Given the description of an element on the screen output the (x, y) to click on. 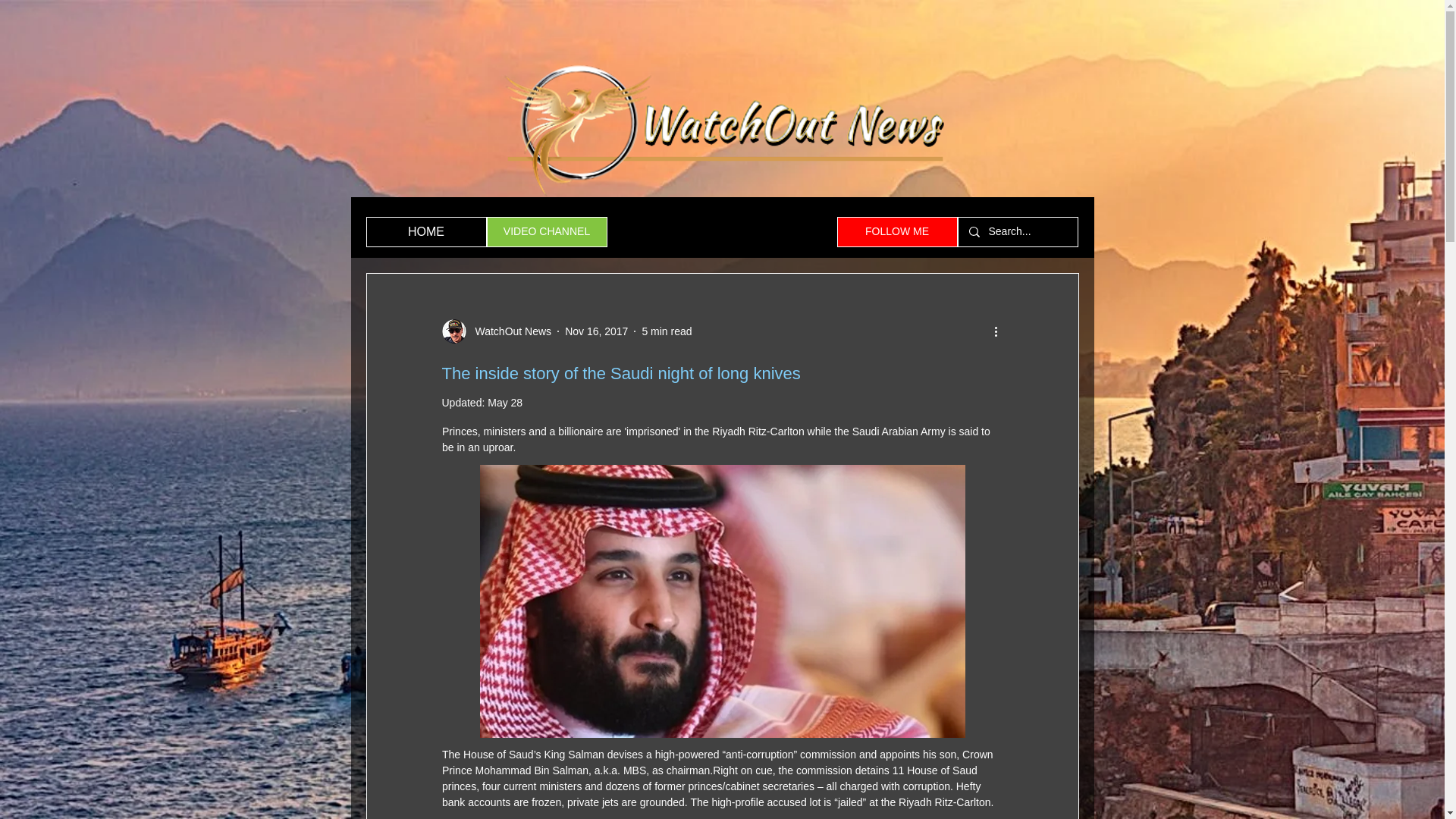
5 min read (666, 330)
HOME (425, 232)
FOLLOW ME (897, 232)
Nov 16, 2017 (595, 330)
May 28 (504, 402)
WatchOut News (508, 330)
WatchOut News (496, 331)
VIDEO CHANNEL (546, 232)
